Given the description of an element on the screen output the (x, y) to click on. 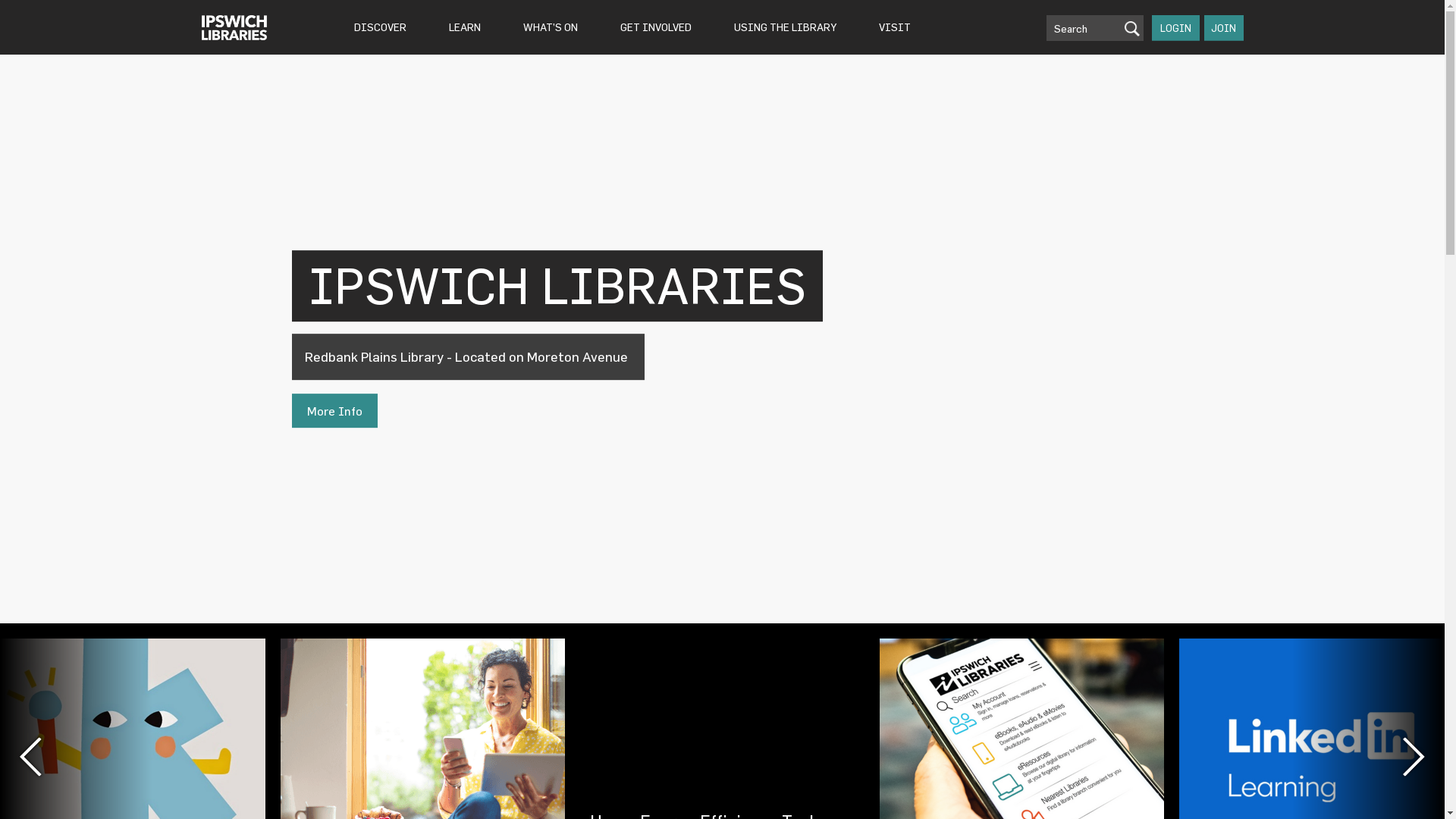
USING THE LIBRARY Element type: text (784, 27)
GET INVOLVED Element type: text (654, 27)
LEARN Element type: text (463, 27)
VISIT Element type: text (894, 27)
JOIN Element type: text (1223, 27)
DISCOVER Element type: text (380, 27)
Search Element type: text (1094, 27)
More Info Element type: text (333, 410)
LOGIN Element type: text (1174, 27)
